Given the description of an element on the screen output the (x, y) to click on. 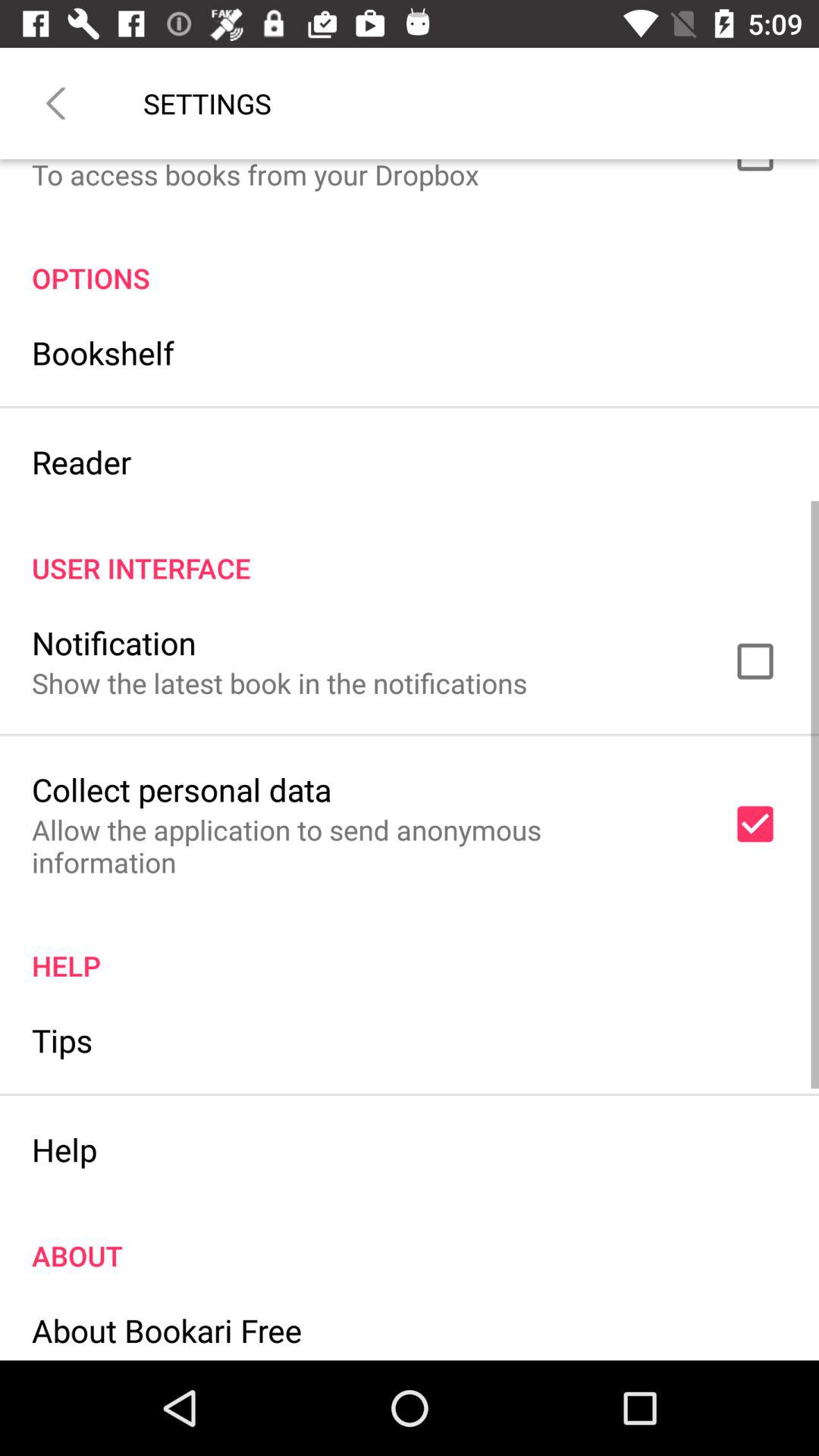
go back (55, 103)
